Given the description of an element on the screen output the (x, y) to click on. 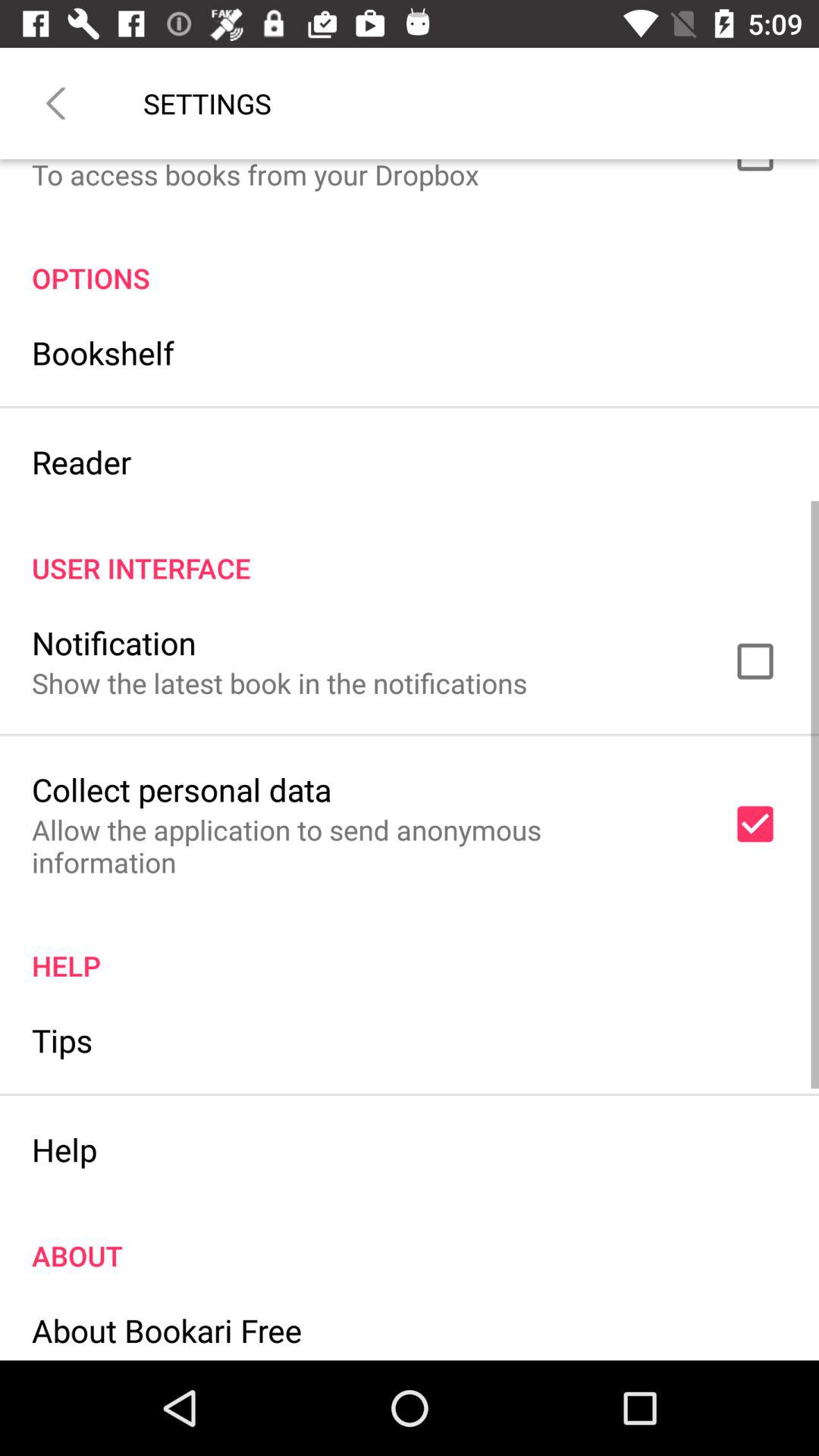
go back (55, 103)
